Given the description of an element on the screen output the (x, y) to click on. 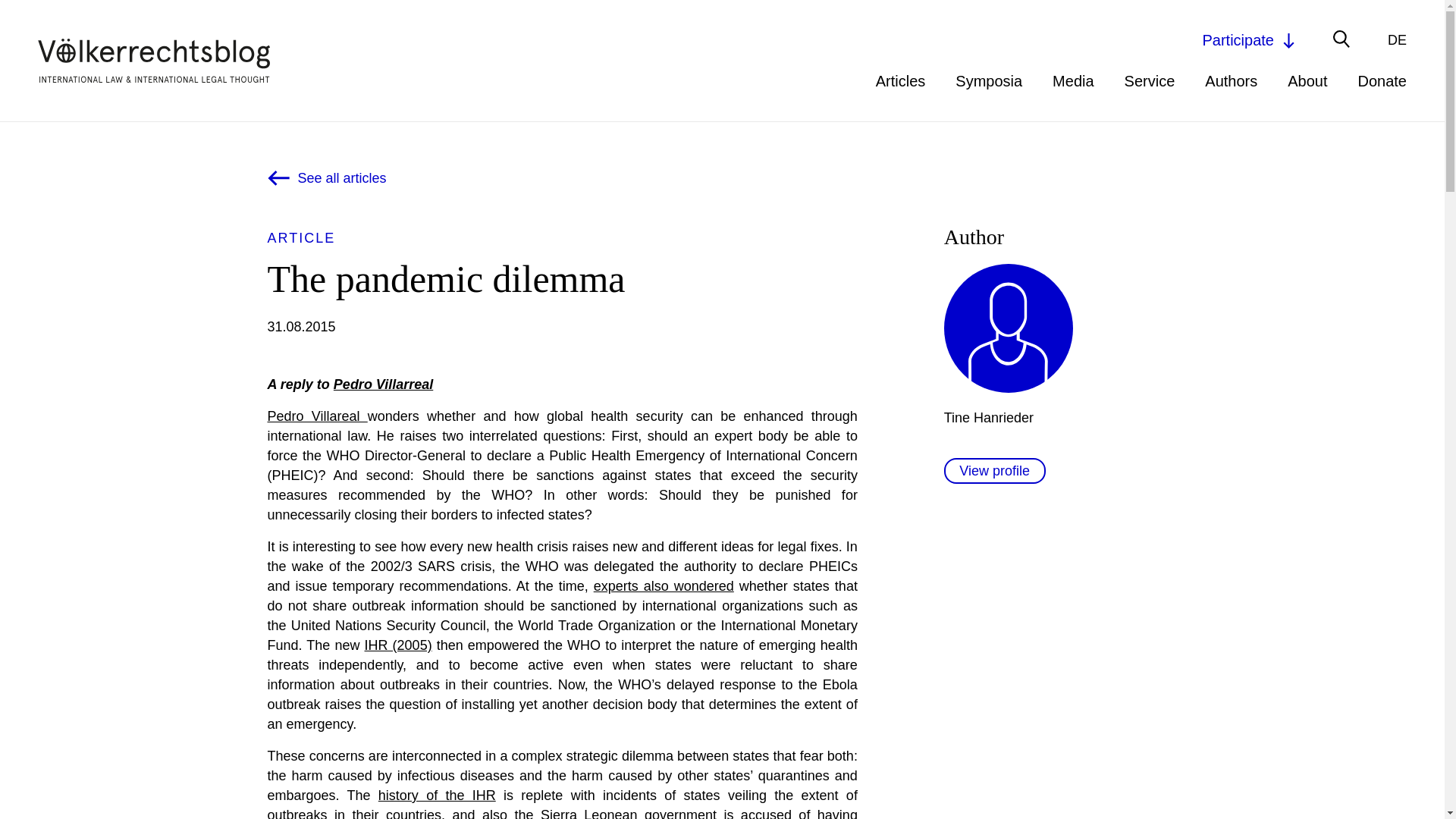
Media (1072, 80)
Participate (1249, 39)
Articles (901, 80)
Symposia (988, 80)
About (1306, 80)
DE (1396, 39)
Donate (1381, 80)
Service (1149, 80)
search (1027, 42)
Authors (1231, 80)
